Given the description of an element on the screen output the (x, y) to click on. 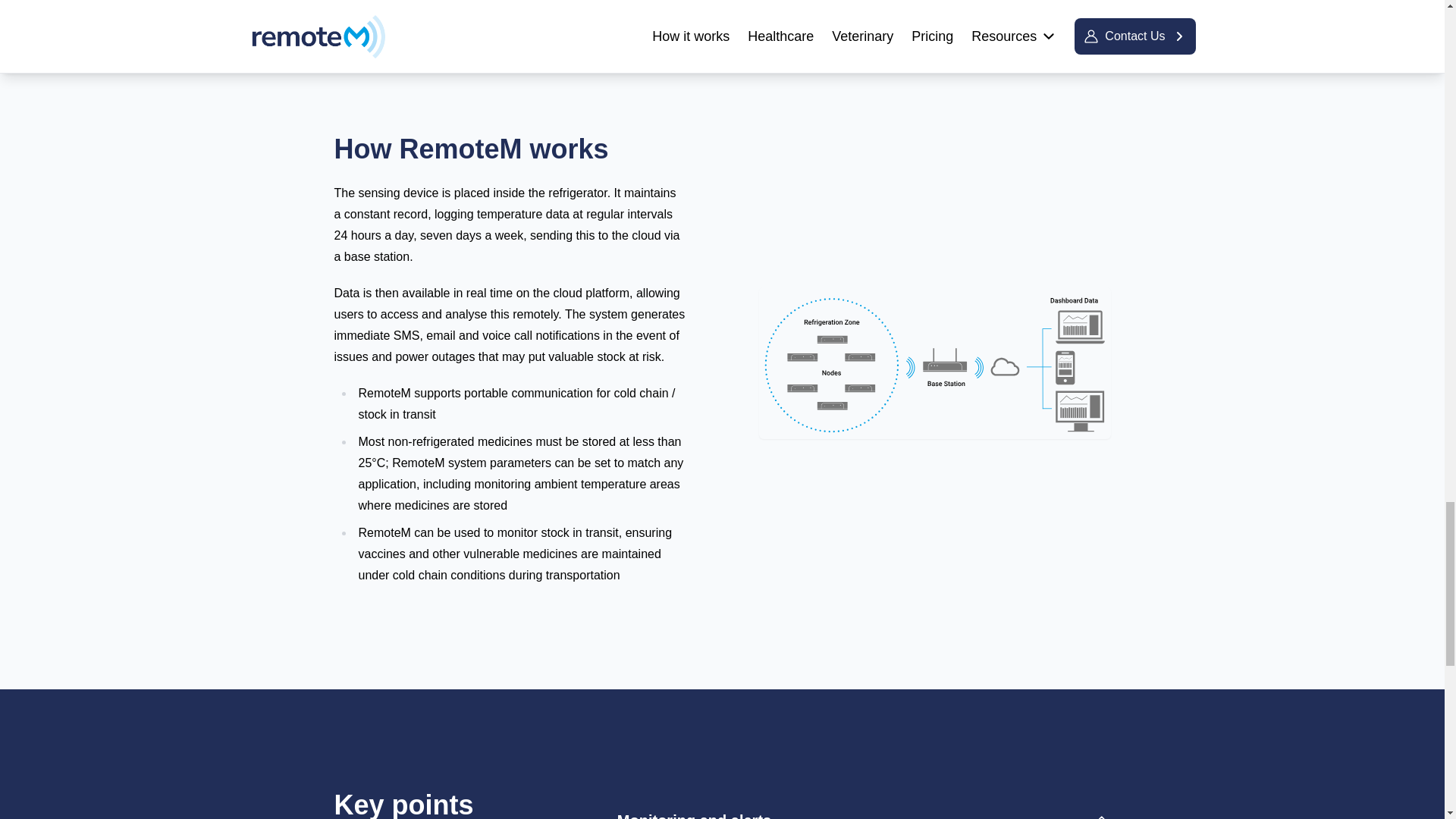
View more (1065, 8)
Monitoring and alerts (863, 802)
